Given the description of an element on the screen output the (x, y) to click on. 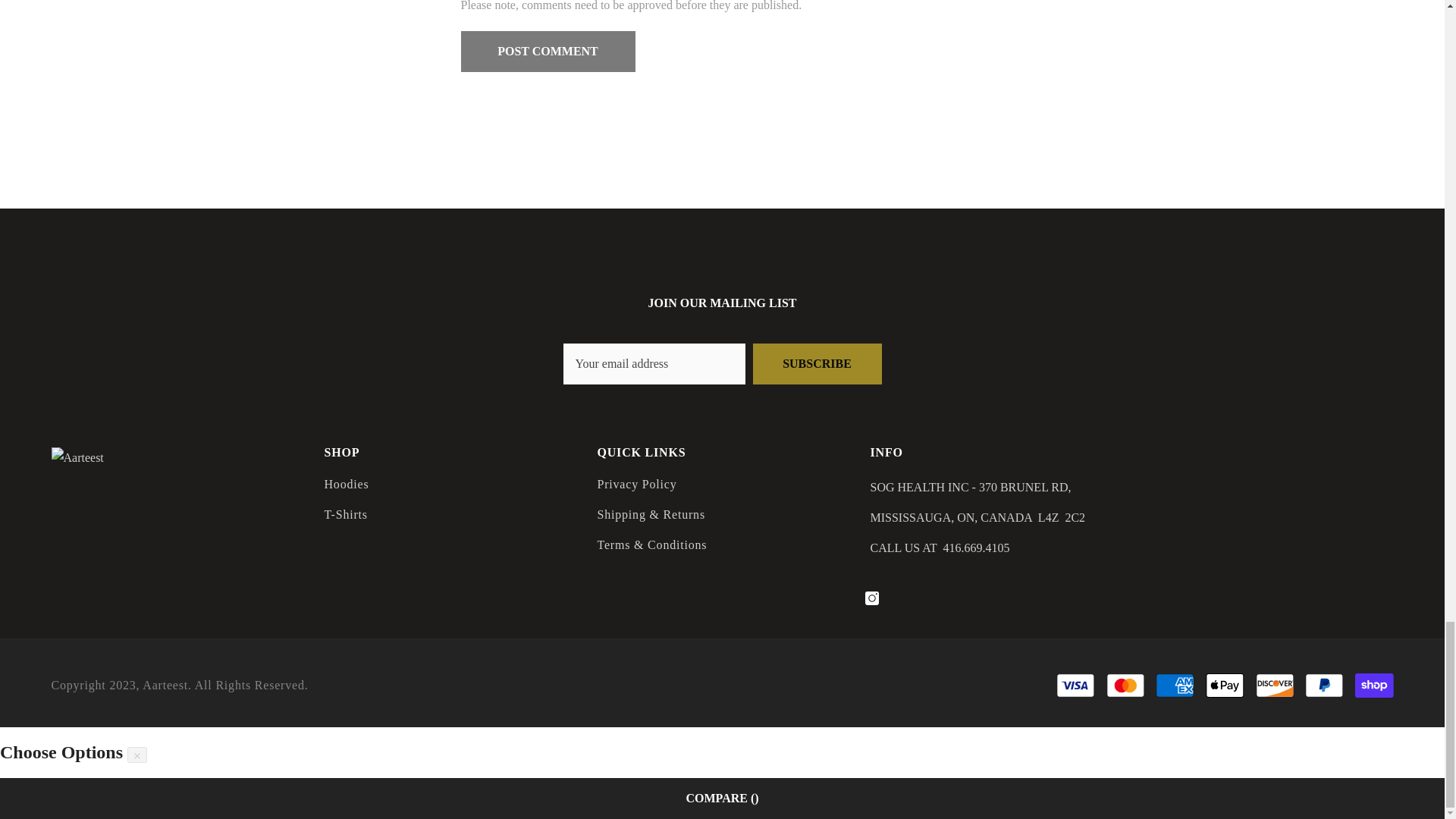
Apple Pay (1224, 685)
Post comment (547, 51)
PayPal (1323, 685)
Discover (1274, 685)
American Express (1174, 685)
SUBSCRIBE (816, 363)
Post comment (547, 51)
Visa (1075, 685)
Mastercard (1125, 685)
Hoodies (346, 484)
